Given the description of an element on the screen output the (x, y) to click on. 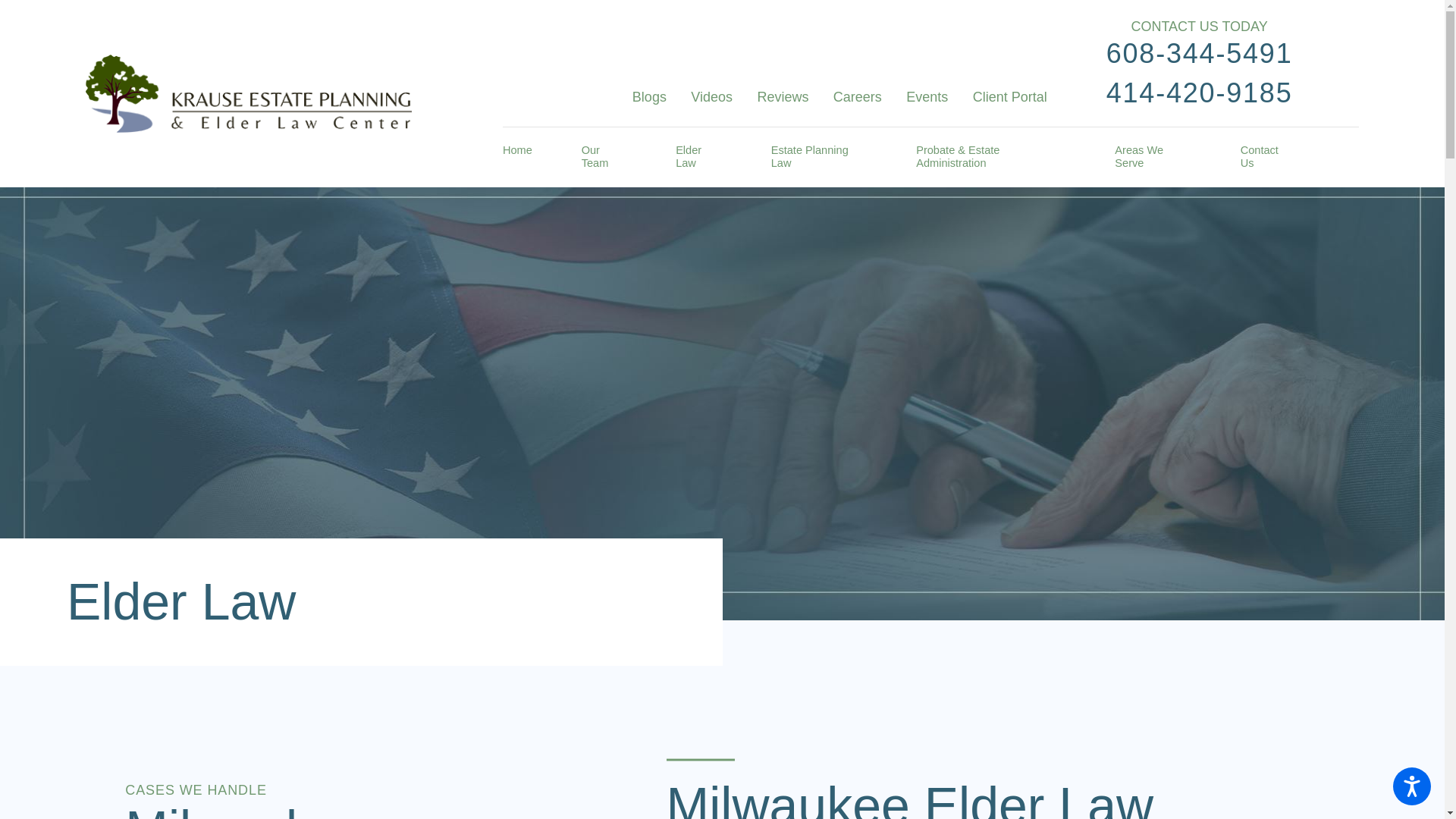
414-420-9185 (1199, 92)
Events (926, 96)
Client Portal (1009, 96)
608-344-5491 (1199, 52)
Krause Estate Planning (247, 92)
Videos (711, 96)
Open the accessibility options menu (1412, 786)
Estate Planning Law (819, 157)
Careers (857, 96)
Blogs (648, 96)
